Given the description of an element on the screen output the (x, y) to click on. 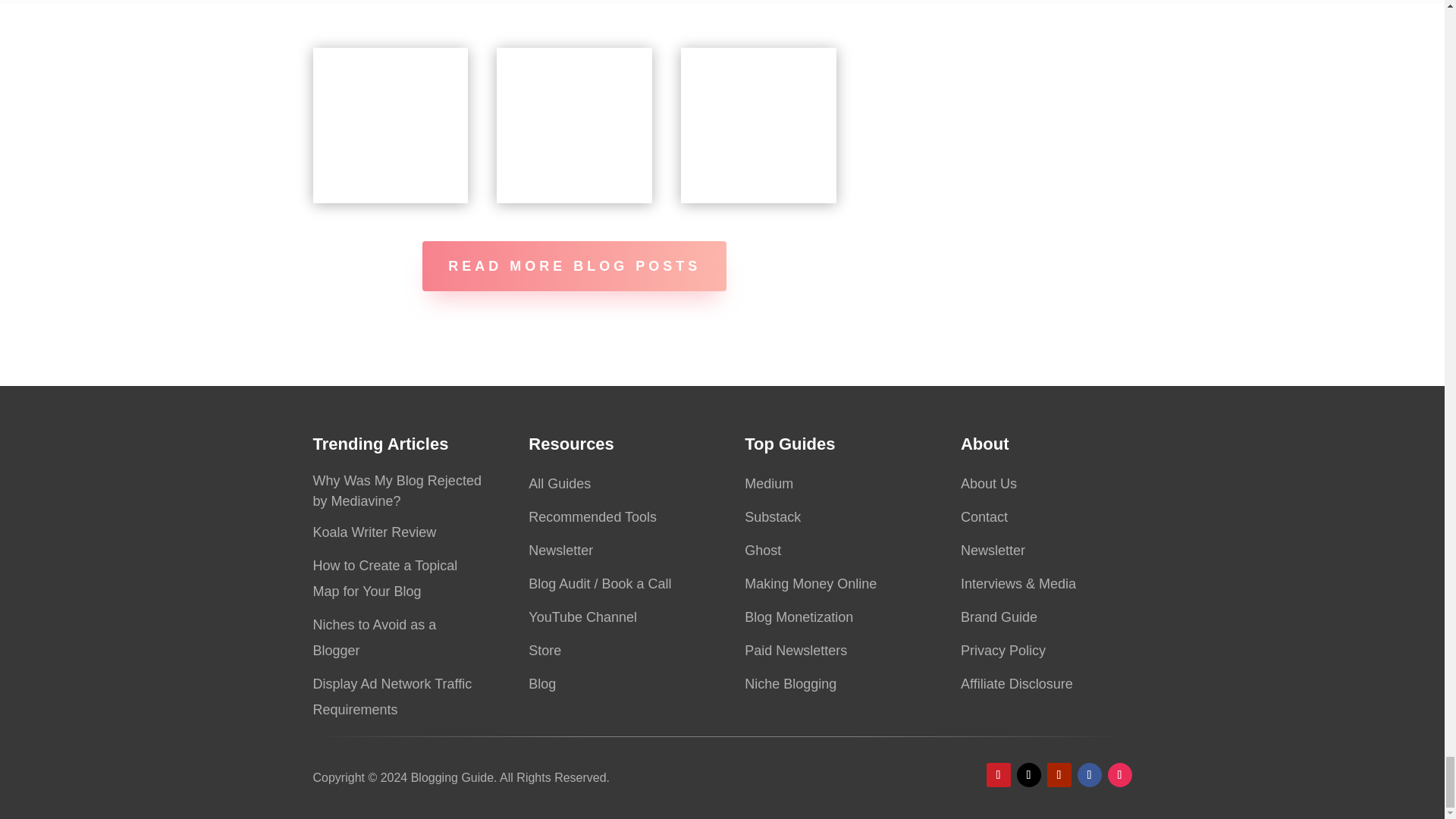
Follow on Instagram (1118, 774)
Follow on Pinterest (997, 774)
Follow on Facebook (1088, 774)
Follow on X (1028, 774)
Follow on Youtube (1058, 774)
